Given the description of an element on the screen output the (x, y) to click on. 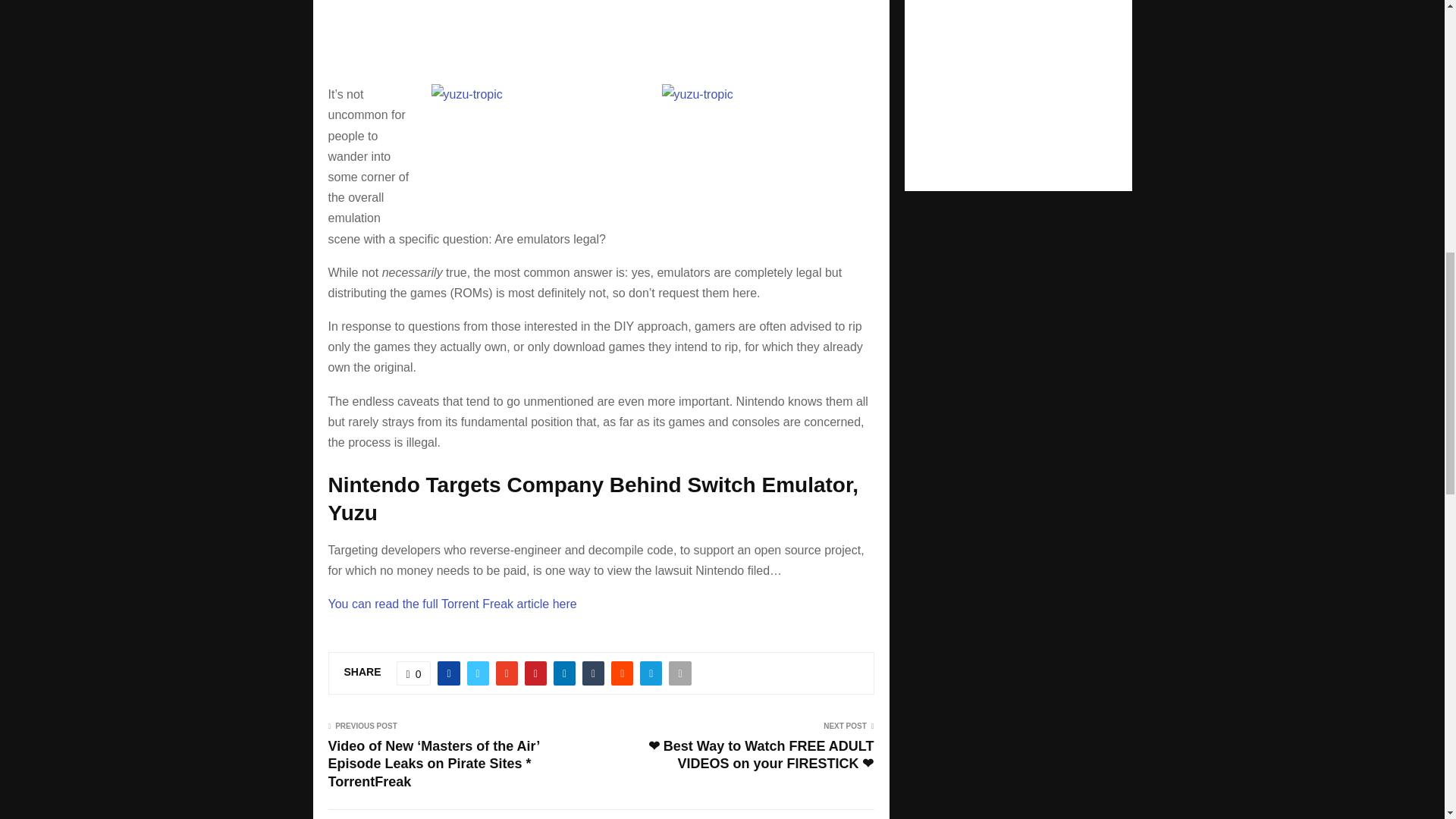
0 (413, 672)
Like (413, 672)
You can read the full Torrent Freak article here (451, 603)
Advertisement (600, 22)
